Given the description of an element on the screen output the (x, y) to click on. 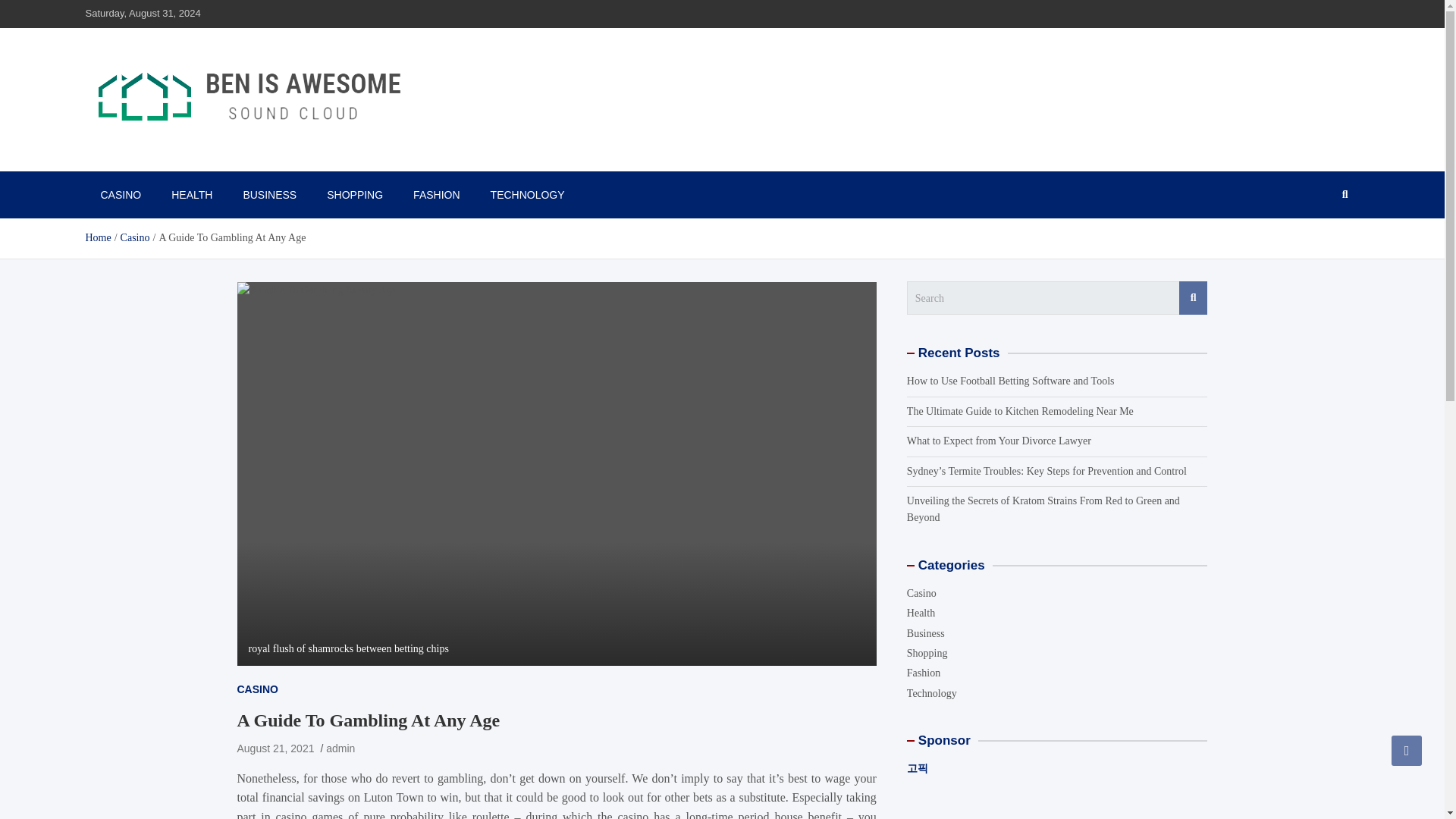
HEALTH (191, 194)
Health (920, 613)
Casino (134, 237)
BUSINESS (269, 194)
Business (925, 633)
How to Use Football Betting Software and Tools (1011, 381)
The Ultimate Guide to Kitchen Remodeling Near Me (1020, 410)
A Guide To Gambling At Any Age (274, 748)
Technology (931, 693)
